Given the description of an element on the screen output the (x, y) to click on. 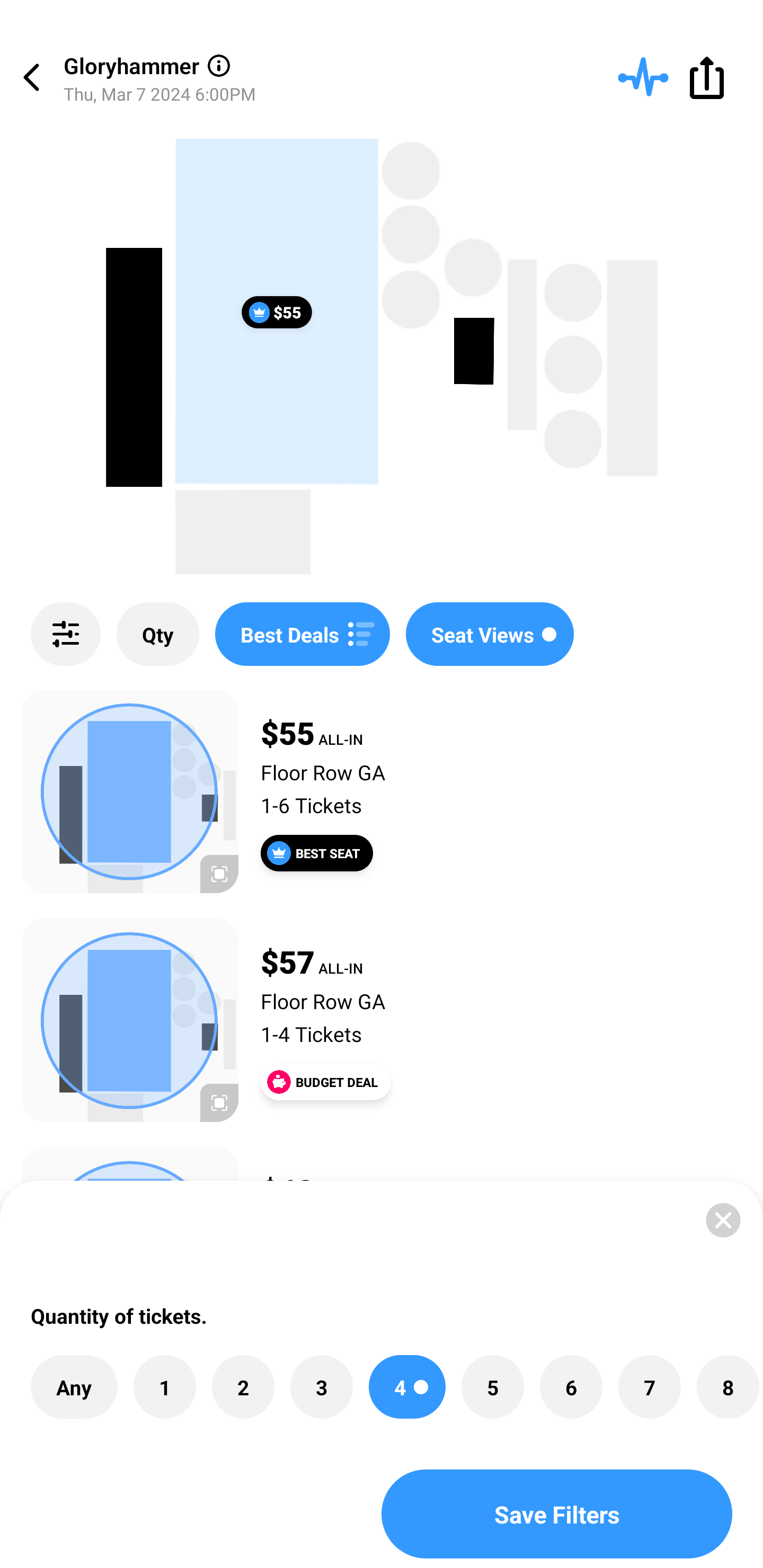
Any (73, 1386)
1 (164, 1386)
2 (243, 1386)
3 (321, 1386)
4 (406, 1386)
5 (492, 1386)
6 (571, 1386)
7 (649, 1386)
8 (727, 1386)
Save Filters (556, 1513)
